Given the description of an element on the screen output the (x, y) to click on. 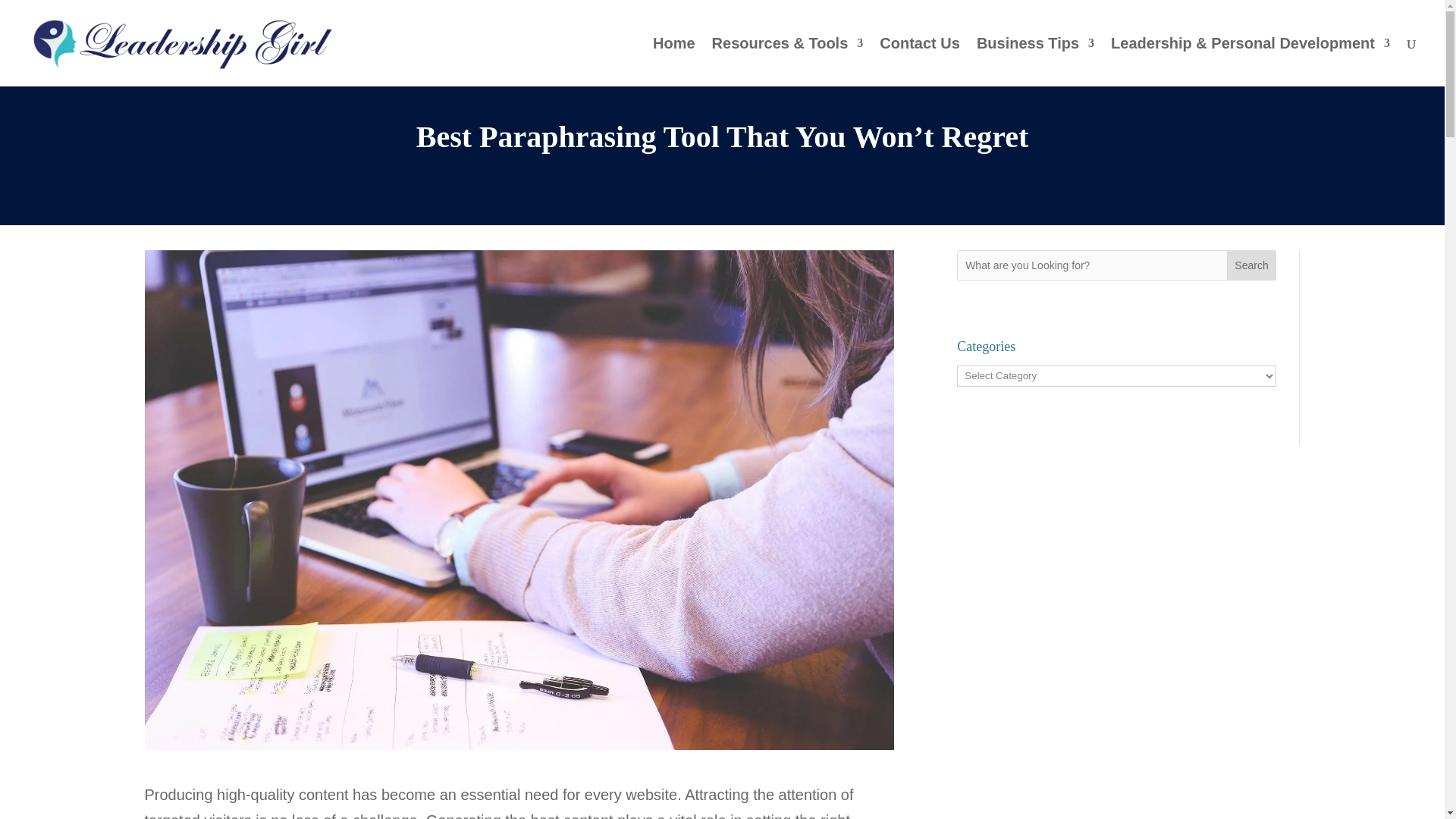
Business Tips (1035, 61)
Business Tips (1035, 61)
Contact Us (919, 61)
Contact Us (919, 61)
